Given the description of an element on the screen output the (x, y) to click on. 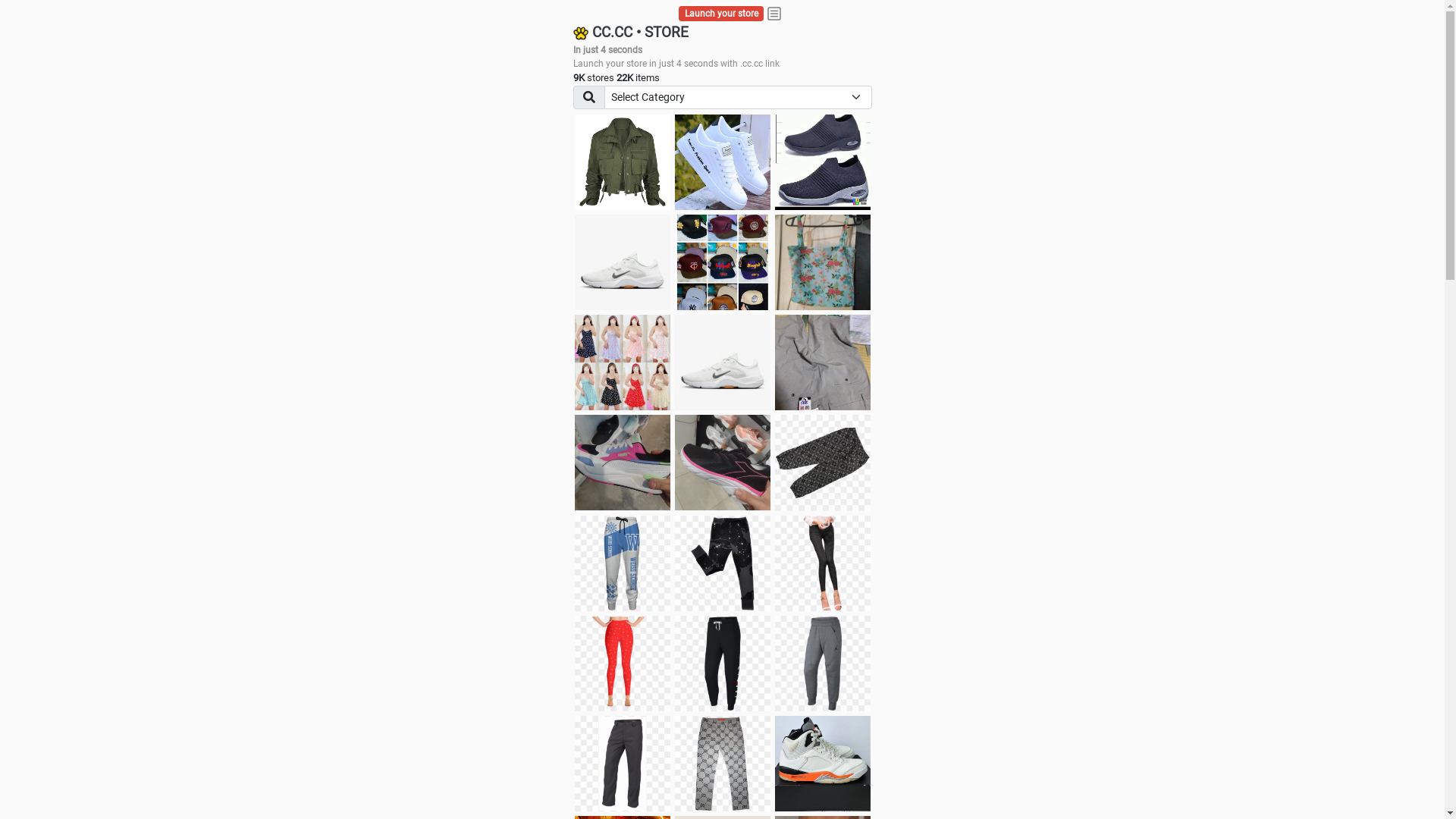
Pant Element type: hover (722, 763)
Pant Element type: hover (622, 563)
Dress/square nect top Element type: hover (622, 362)
Shoe Element type: hover (822, 763)
jacket Element type: hover (622, 162)
Short pant Element type: hover (822, 462)
Pant Element type: hover (722, 563)
Shoes Element type: hover (722, 362)
white shoes Element type: hover (722, 162)
Zapatillas Element type: hover (722, 462)
Pant Element type: hover (822, 663)
Pant Element type: hover (722, 663)
Launch your store Element type: text (721, 13)
Shoes for boys Element type: hover (622, 262)
Pant Element type: hover (622, 663)
shoes for boys Element type: hover (822, 162)
Pant Element type: hover (822, 563)
Pant Element type: hover (622, 763)
Ukay cloth Element type: hover (822, 262)
Things we need Element type: hover (722, 262)
Zapatillas pumas Element type: hover (622, 462)
